Given the description of an element on the screen output the (x, y) to click on. 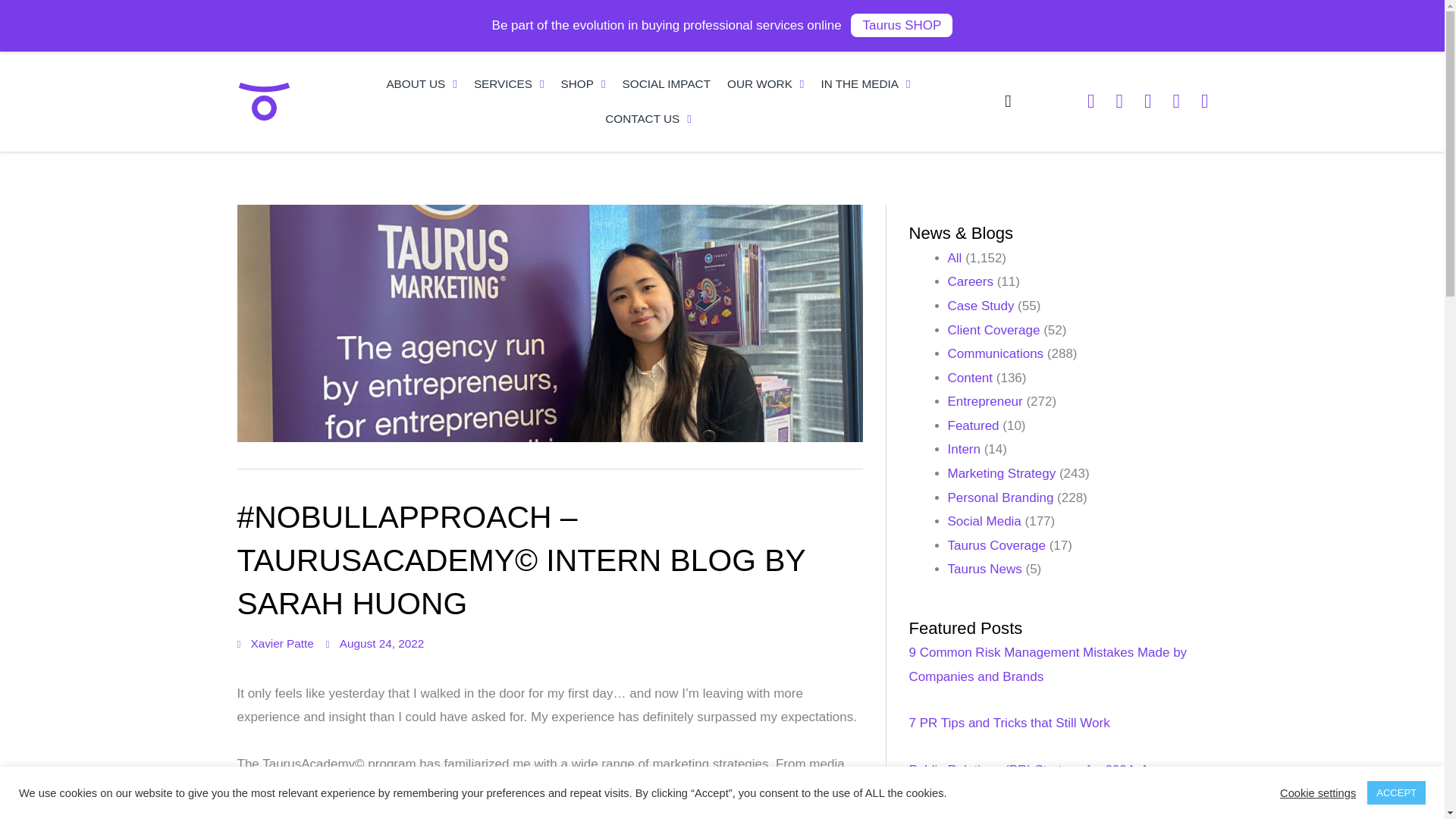
Taurus SHOP (901, 24)
OUR WORK (765, 83)
SERVICES (509, 83)
CONTACT US (648, 118)
SHOP (583, 83)
ABOUT US (421, 83)
SOCIAL IMPACT (666, 83)
IN THE MEDIA (865, 83)
